Given the description of an element on the screen output the (x, y) to click on. 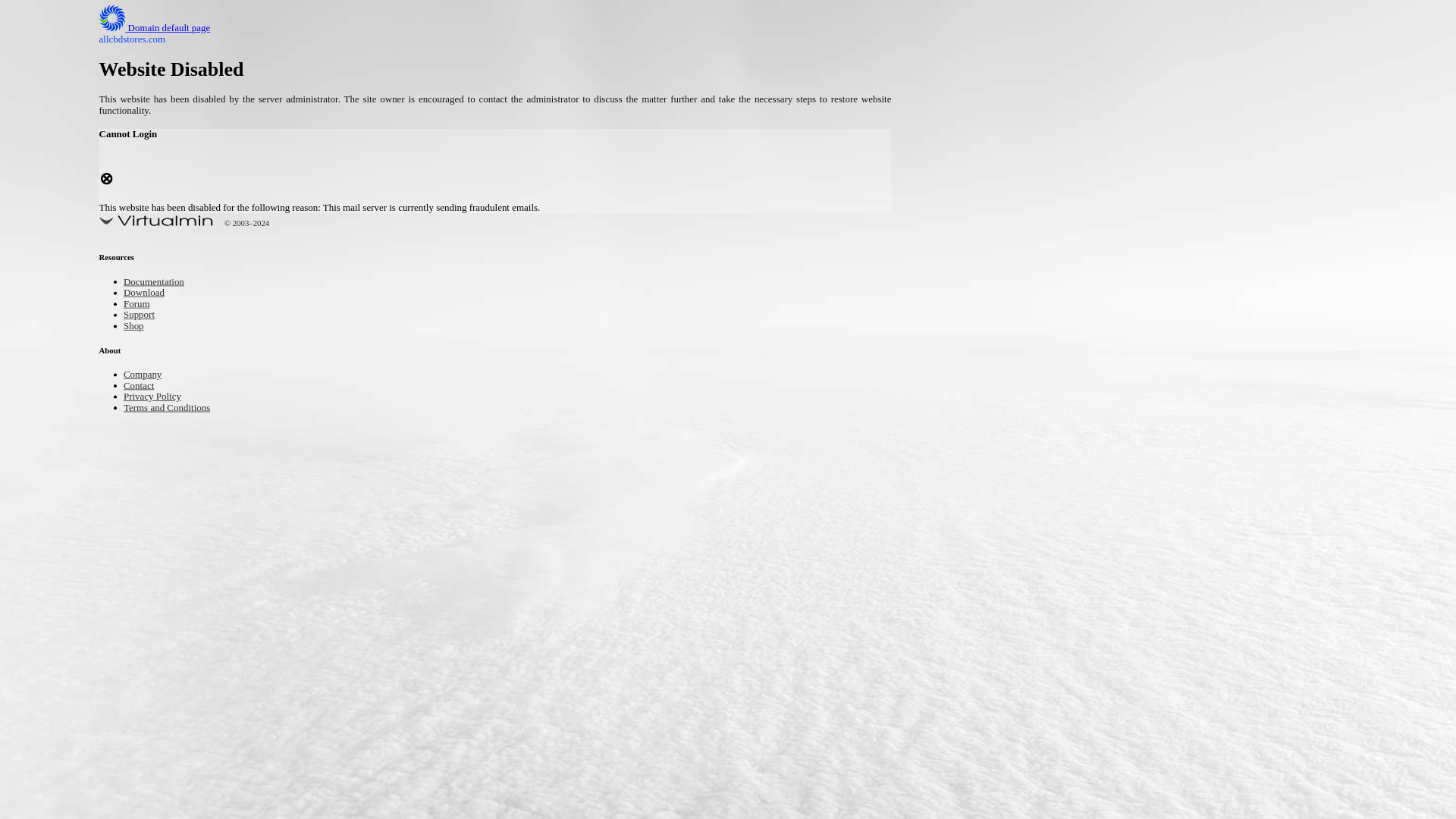
Skip to content (34, 9)
Privacy Policy (999, 306)
Search (1050, 85)
look at here now (467, 411)
August 2020 (996, 432)
Search for: (1049, 47)
Contact Us (991, 258)
ADMINISTRATOR (417, 118)
Search (1050, 85)
DMCA Policy (996, 282)
BDCLIFEINSTYLE.COM (411, 28)
Terms of Use (996, 330)
here are the findings (577, 655)
RSS (977, 612)
Disclaimer (990, 354)
